Given the description of an element on the screen output the (x, y) to click on. 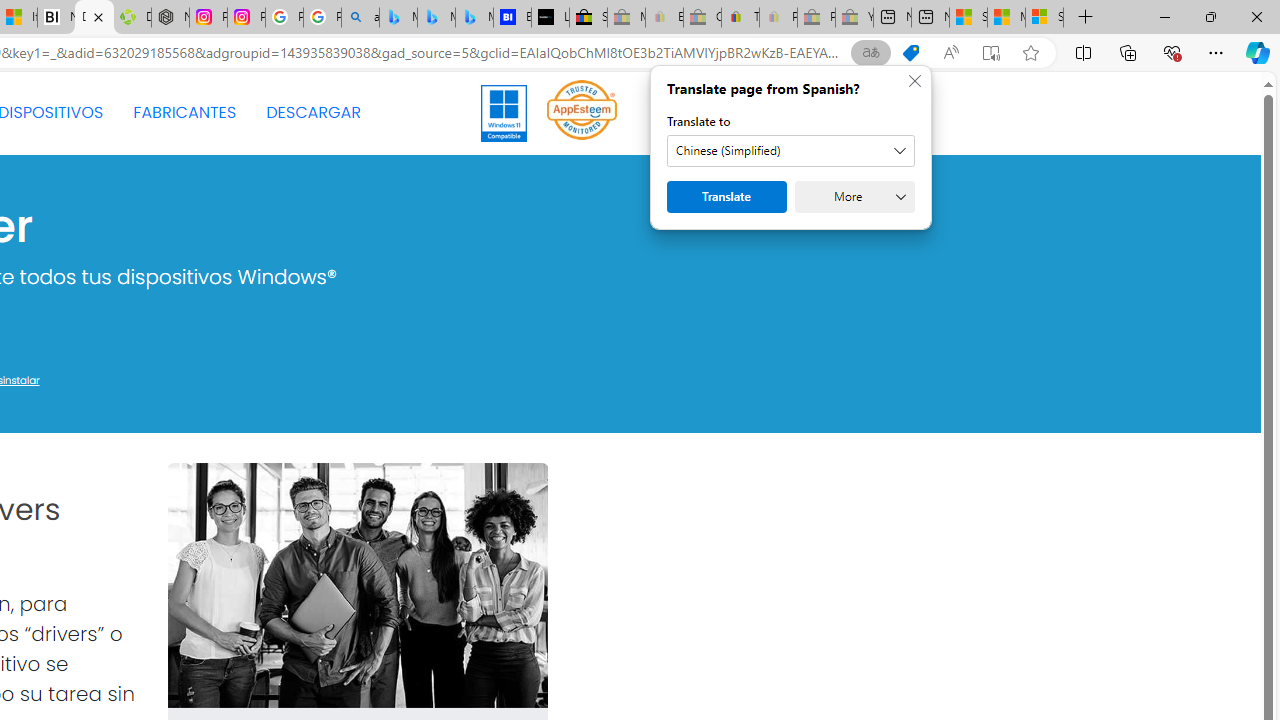
Translate to (790, 151)
Translate (726, 196)
DESCARGAR (313, 112)
App Esteem (582, 109)
Nordace - Nordace Edin Collection (170, 17)
alabama high school quarterback dies - Search (359, 17)
Shanghai, China hourly forecast | Microsoft Weather (967, 17)
